Given the description of an element on the screen output the (x, y) to click on. 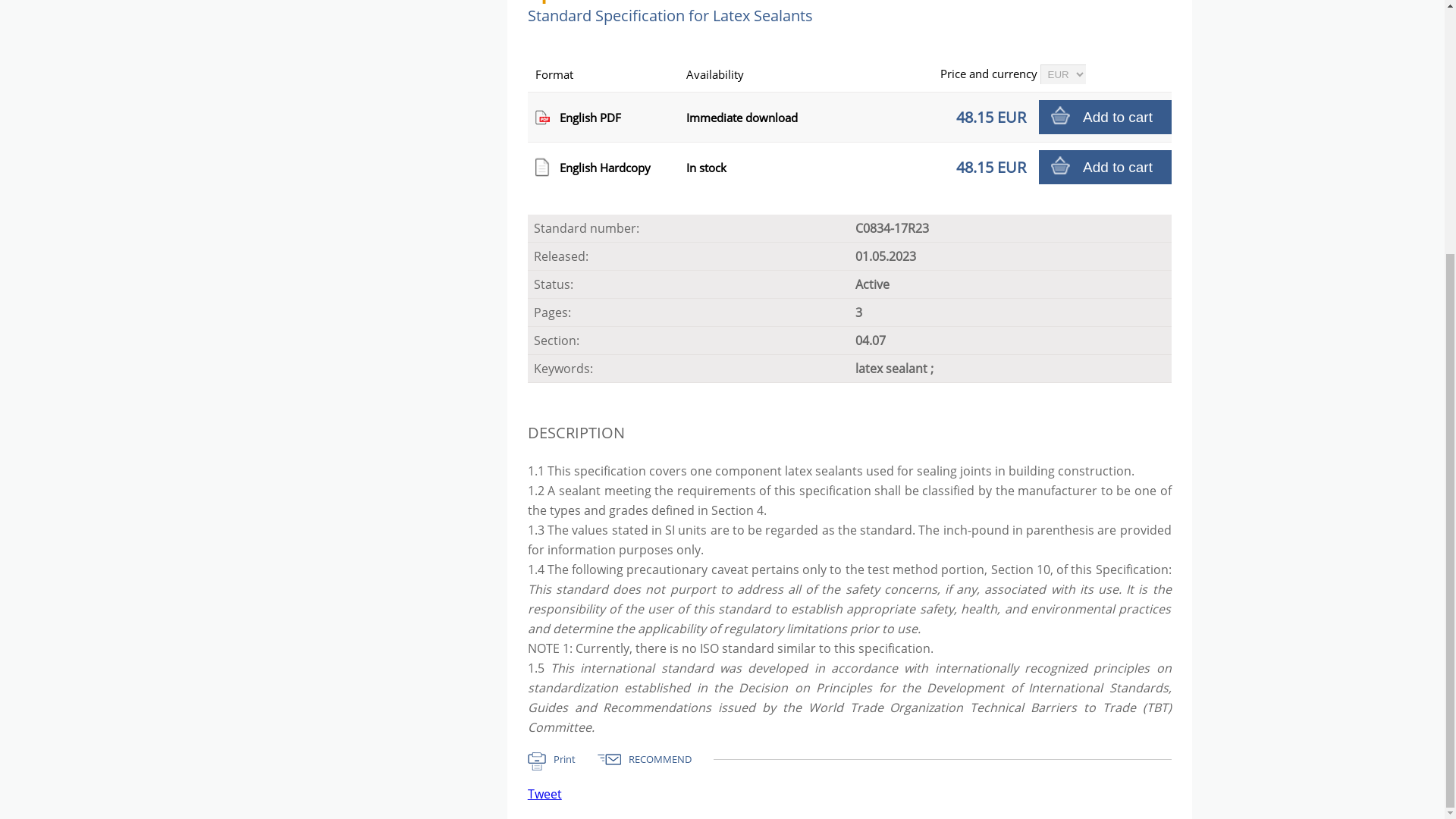
Print (561, 761)
Tweet (544, 793)
RECOMMEND (654, 761)
Add to cart (1105, 166)
Add to cart (1105, 116)
